Given the description of an element on the screen output the (x, y) to click on. 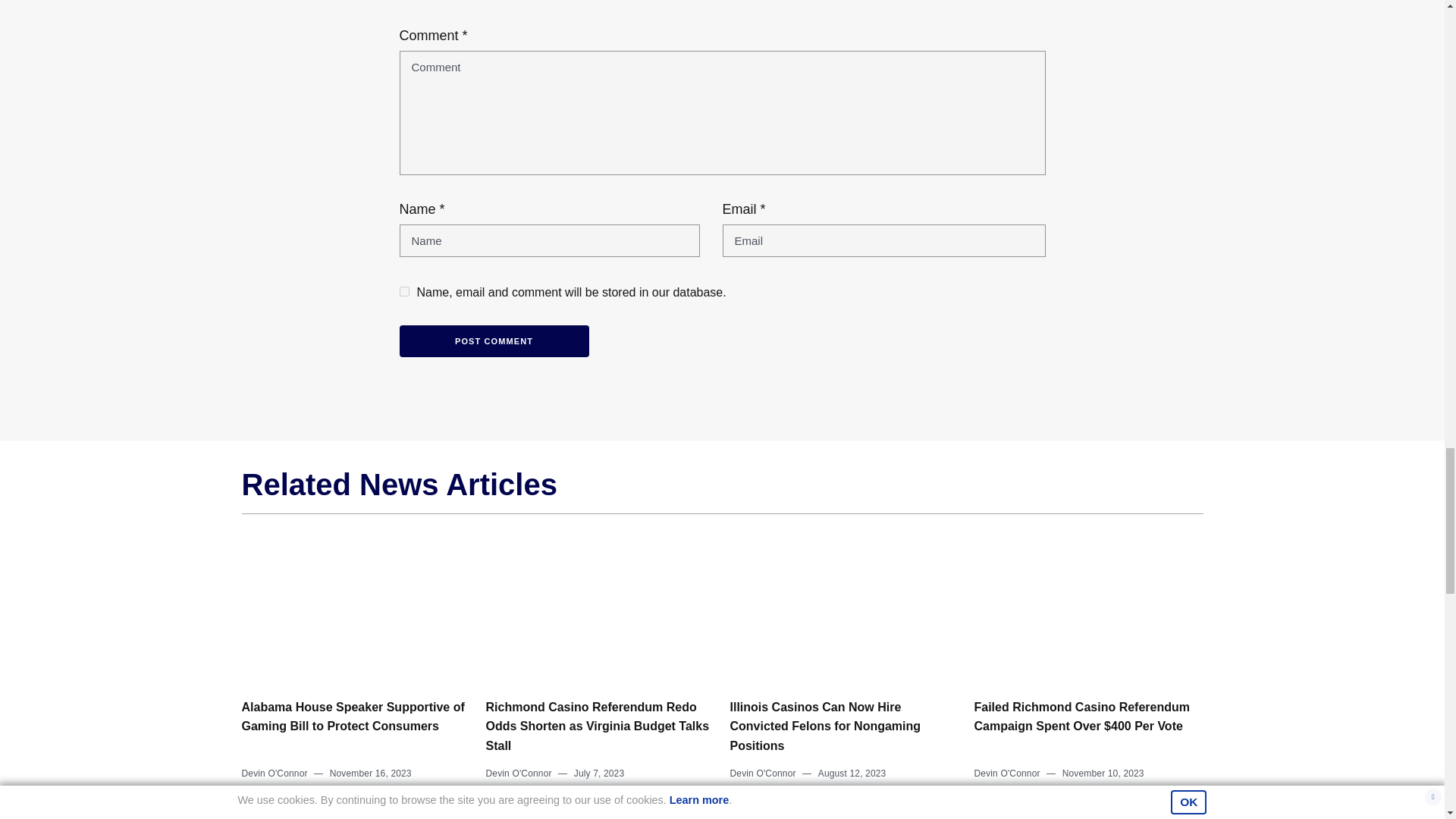
yes (403, 291)
Post Comment (493, 341)
